Given the description of an element on the screen output the (x, y) to click on. 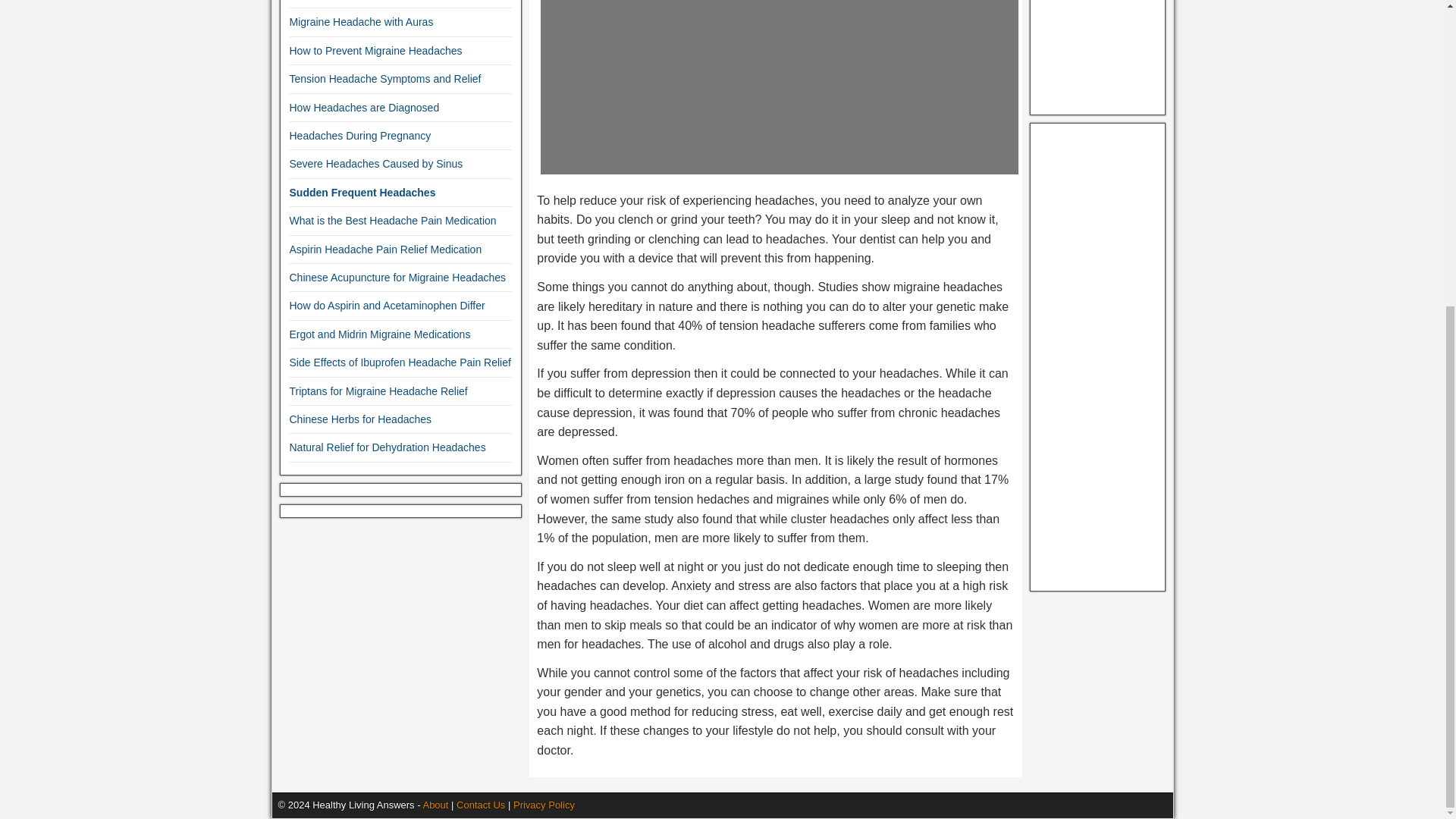
Triptans for Migraine Headache Relief (378, 390)
Chinese Acupuncture for Migraine Headaches (397, 277)
Privacy Policy (544, 804)
How do Aspirin and Acetaminophen Differ (386, 305)
What is the Best Headache Pain Medication (392, 220)
Aspirin Headache Pain Relief Medication (385, 249)
Natural Relief for Dehydration Headaches (387, 447)
Side Effects of Ibuprofen Headache Pain Relief (400, 362)
About (435, 804)
Contact Us (481, 804)
